Given the description of an element on the screen output the (x, y) to click on. 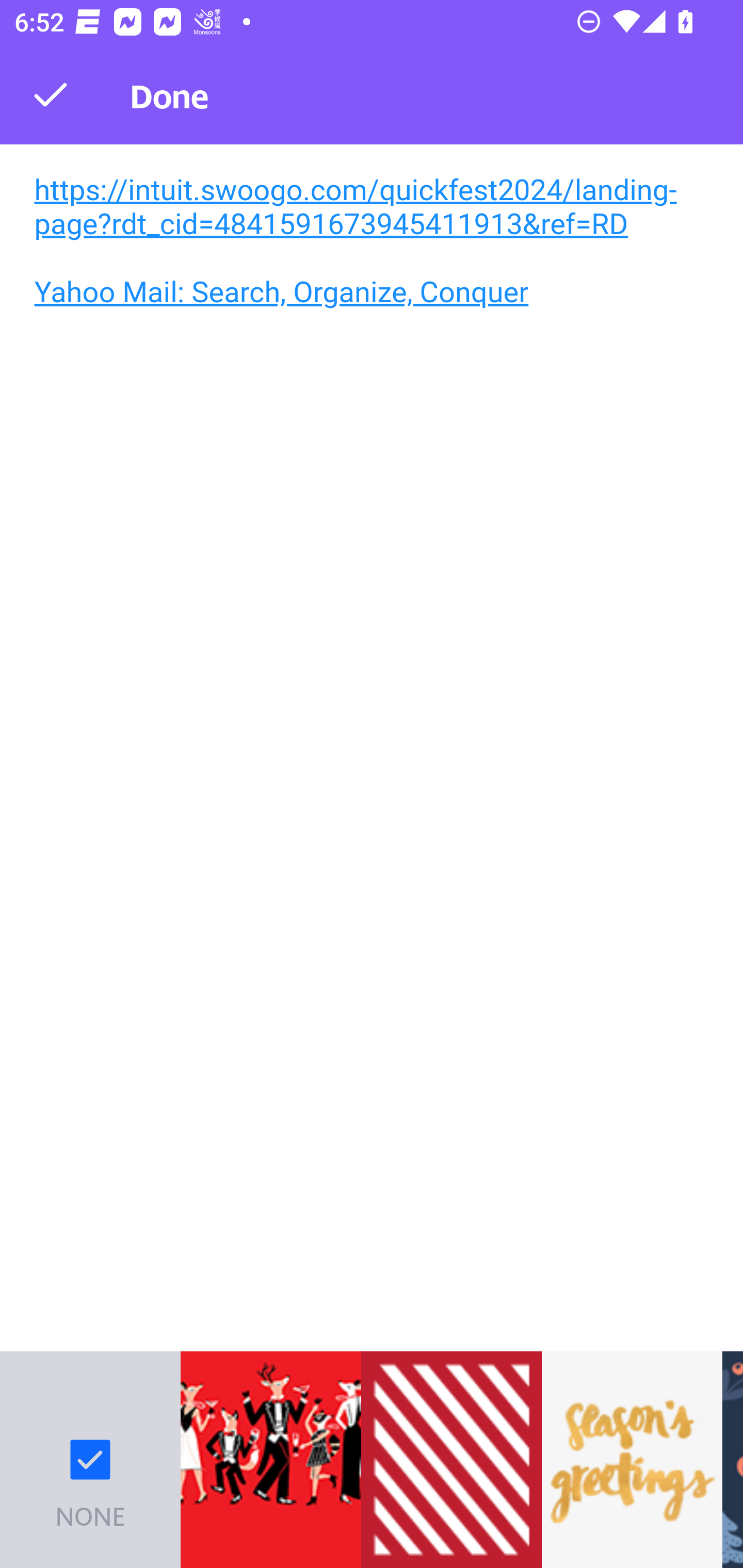
Done selecting stationery theme (50, 93)
NONE (90, 1459)
Forest Fete (270, 1459)
Joy (451, 1459)
Season's Greetings (631, 1459)
